Given the description of an element on the screen output the (x, y) to click on. 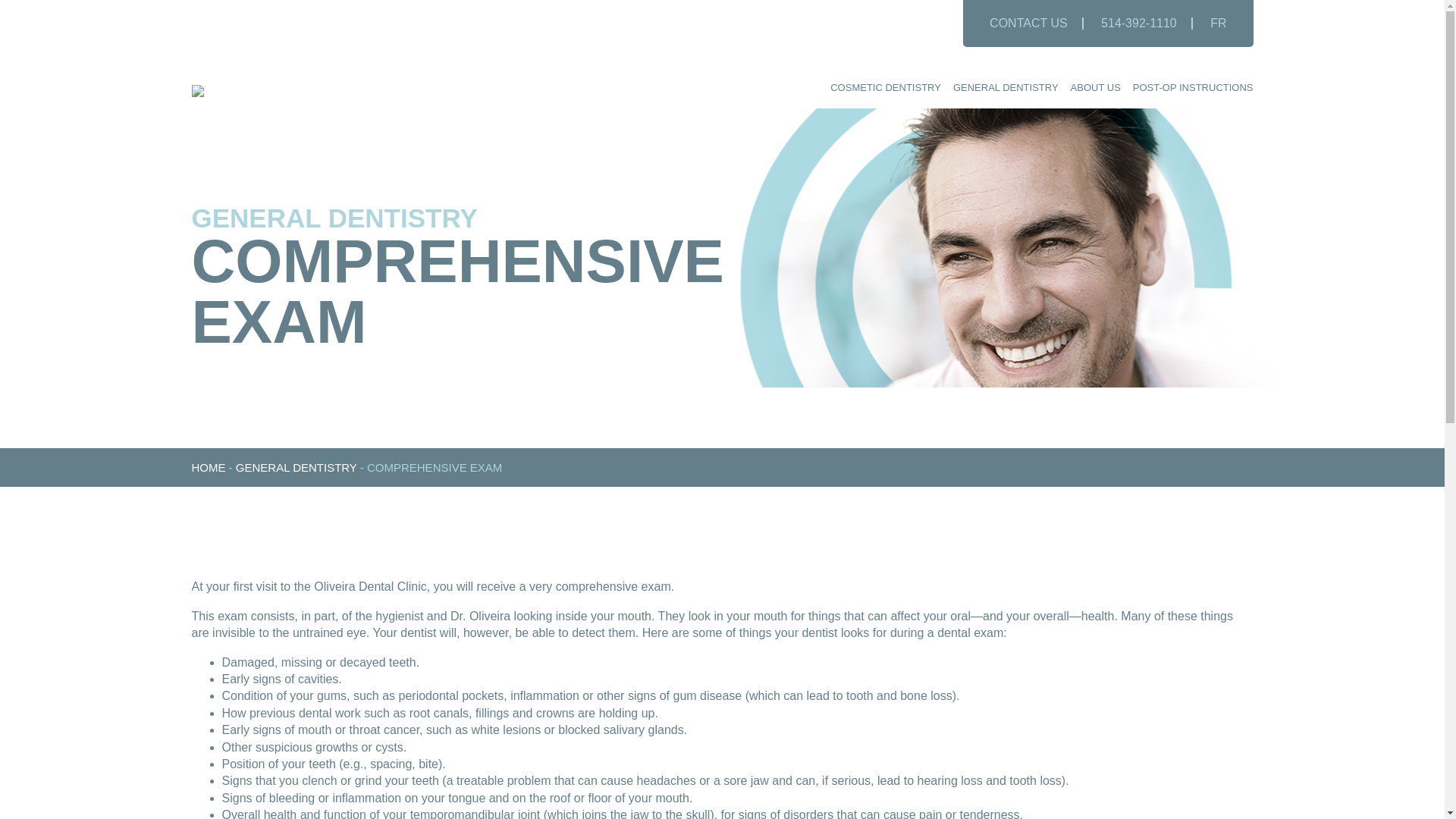
CONTACT US (1028, 23)
ABOUT US (1095, 87)
HOME (207, 467)
FR (1218, 23)
GENERAL DENTISTRY (295, 467)
514-392-1110 (1139, 23)
COSMETIC DENTISTRY (884, 87)
POST-OP INSTRUCTIONS (1192, 87)
GENERAL DENTISTRY (1005, 87)
